Given the description of an element on the screen output the (x, y) to click on. 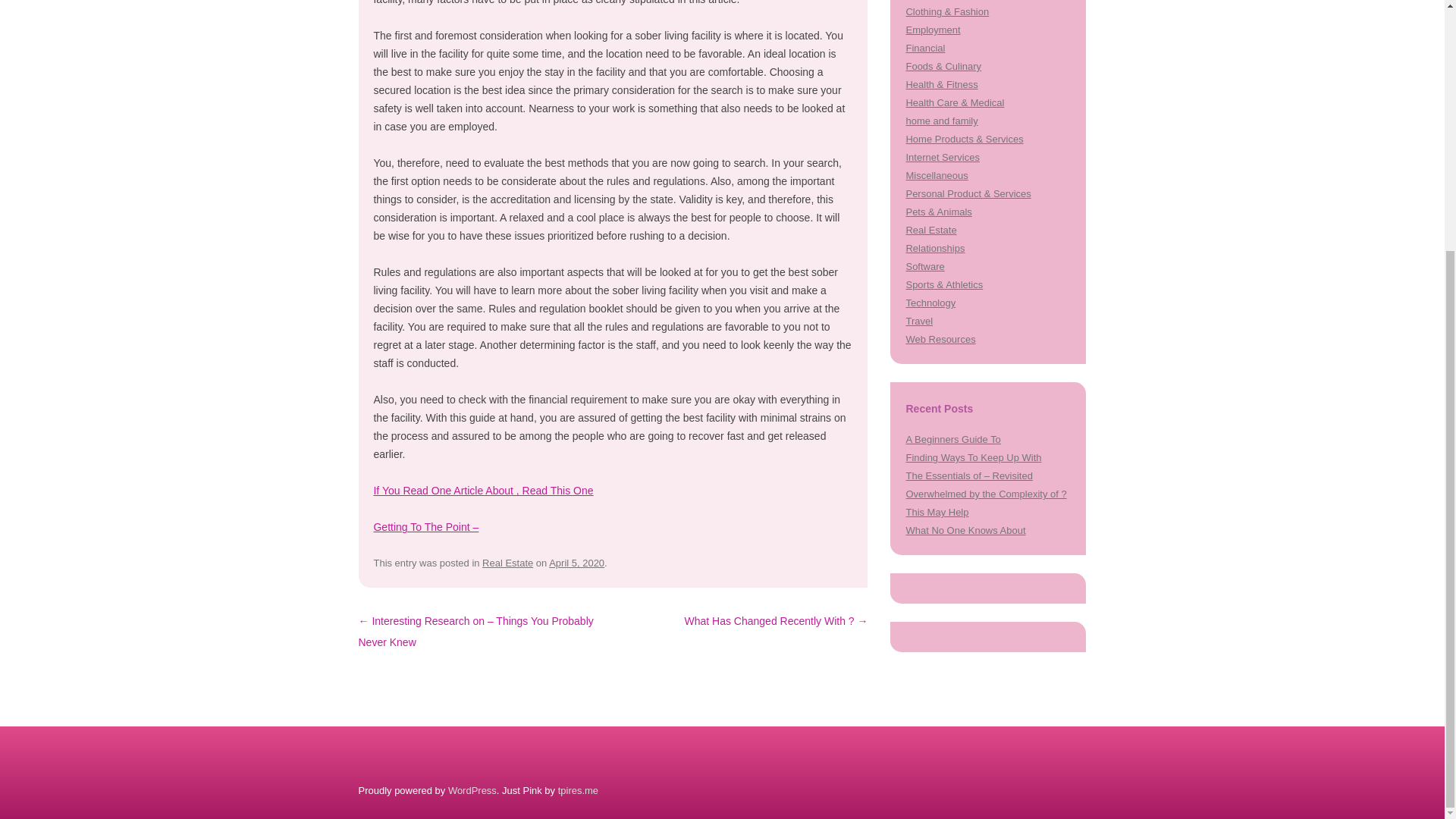
Overwhelmed by the Complexity of ? This May Help (985, 502)
Employment (932, 30)
A Beginners Guide To (952, 439)
If You Read One Article About , Read This One (482, 490)
Web Resources (940, 338)
Real Estate (930, 229)
Software (924, 266)
Semantic Personal Publishing Platform (472, 790)
Miscellaneous (936, 174)
Travel (919, 320)
6:25 pm (576, 562)
Internet Services (941, 156)
Technology (930, 302)
home and family (940, 120)
Relationships (934, 247)
